Given the description of an element on the screen output the (x, y) to click on. 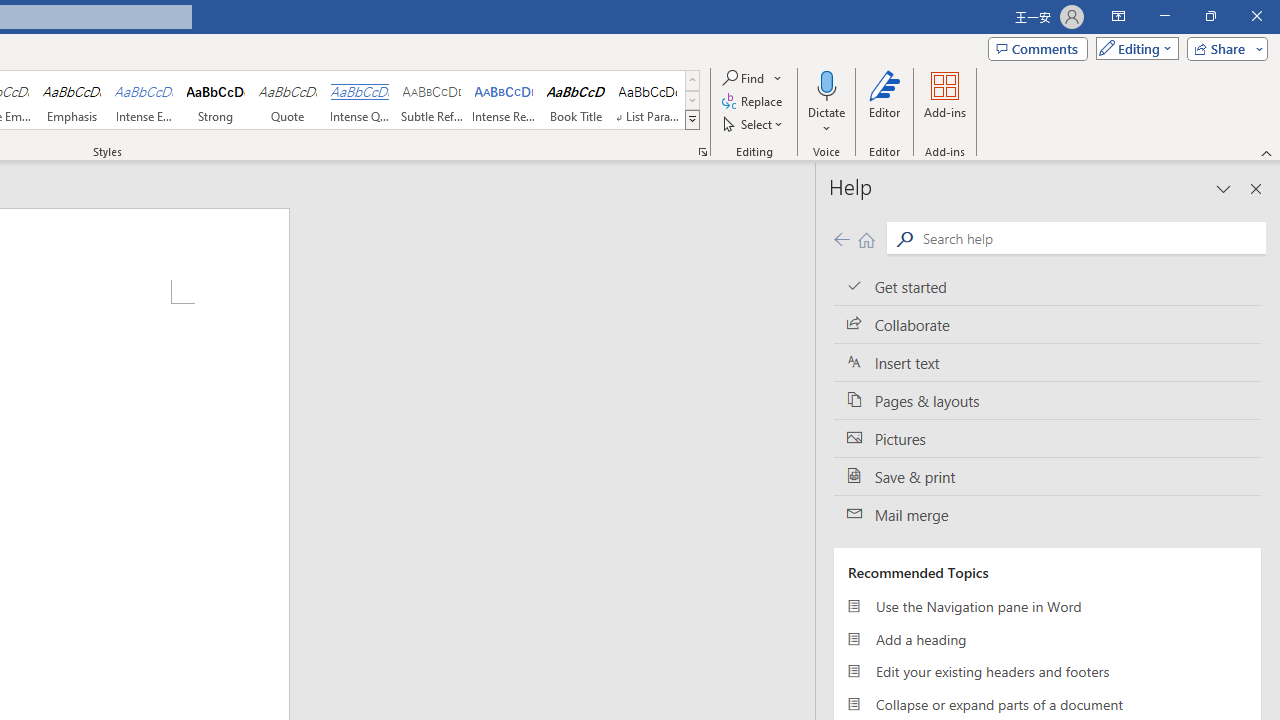
Search (904, 238)
Intense Reference (504, 100)
Comments (1038, 48)
Minimize (1164, 16)
Close pane (1256, 188)
Previous page (841, 238)
Use the Navigation pane in Word (1047, 605)
Quote (287, 100)
Share (1223, 48)
Book Title (575, 100)
Collapse the Ribbon (1267, 152)
Collaborate (1047, 325)
Mode (1133, 47)
Replace... (753, 101)
